Given the description of an element on the screen output the (x, y) to click on. 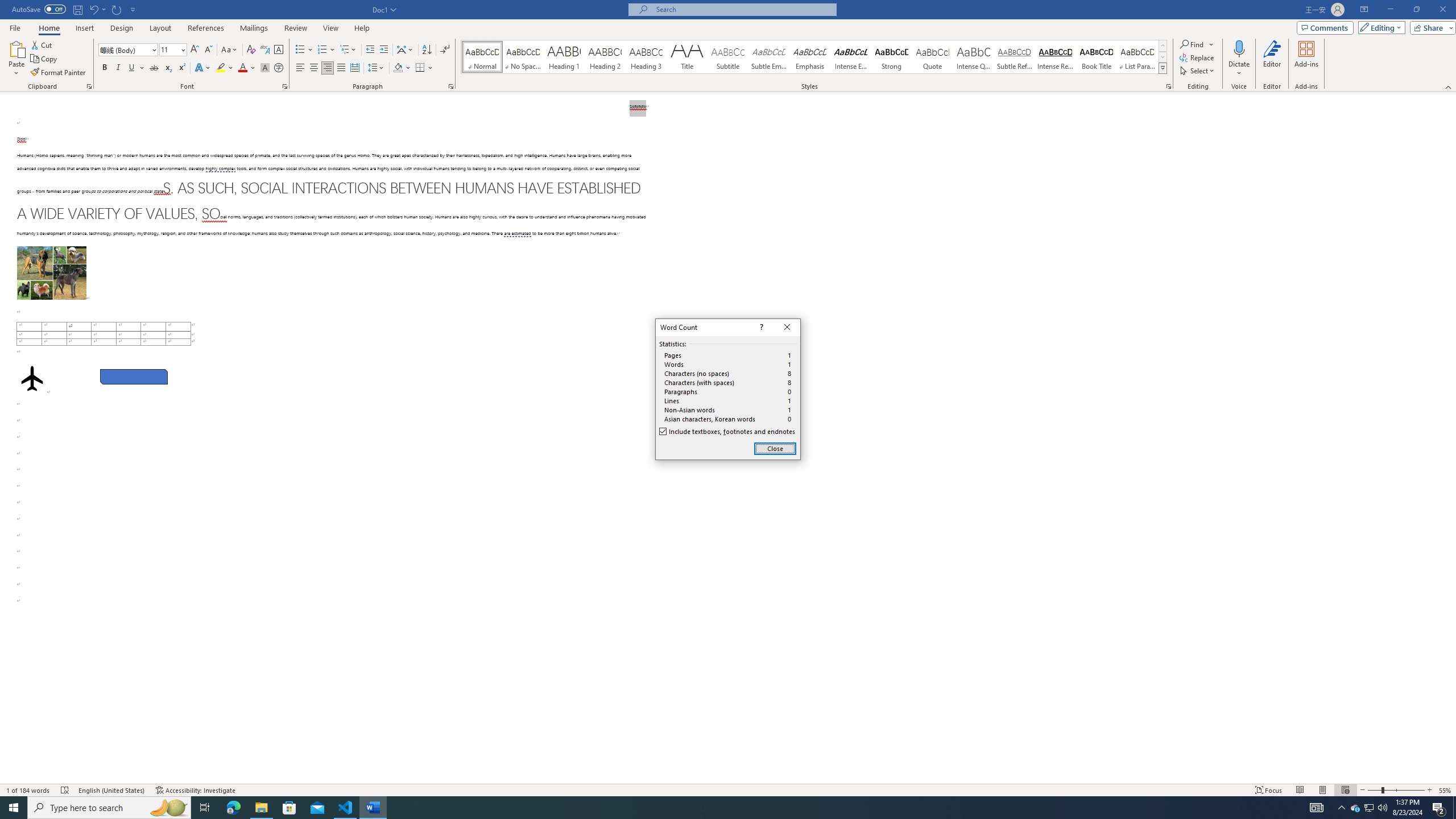
Emphasis (809, 56)
Undo Paragraph Alignment (92, 9)
